Given the description of an element on the screen output the (x, y) to click on. 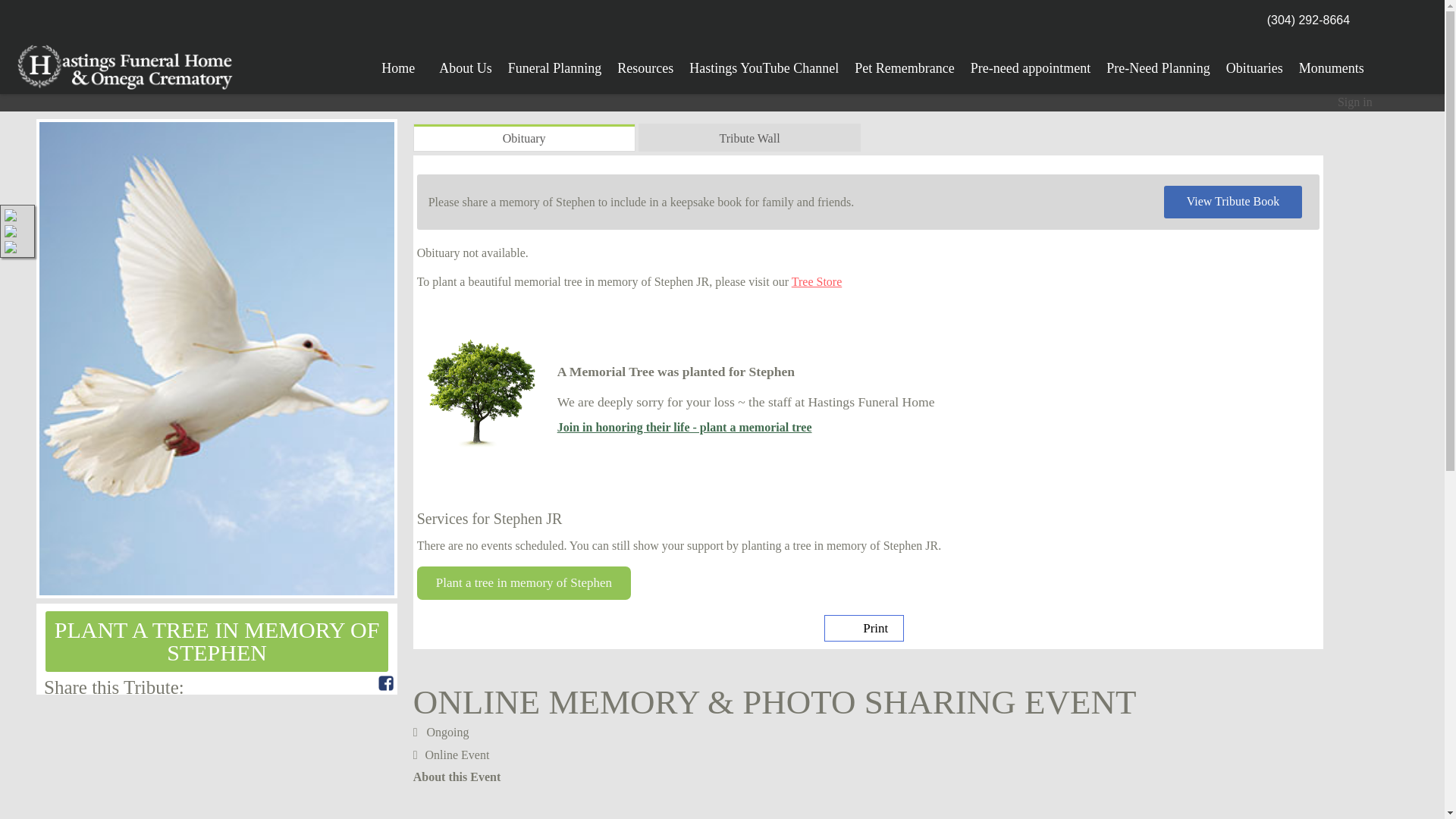
Facebook (385, 682)
Resources (644, 62)
Receive Notifications (348, 682)
Print (864, 628)
Hastings YouTube Channel (764, 62)
Pre-need appointment (1030, 62)
Monuments (1332, 62)
Sign in (1355, 101)
Pre-Need Planning (1157, 62)
Pet Remembrance (903, 62)
